Given the description of an element on the screen output the (x, y) to click on. 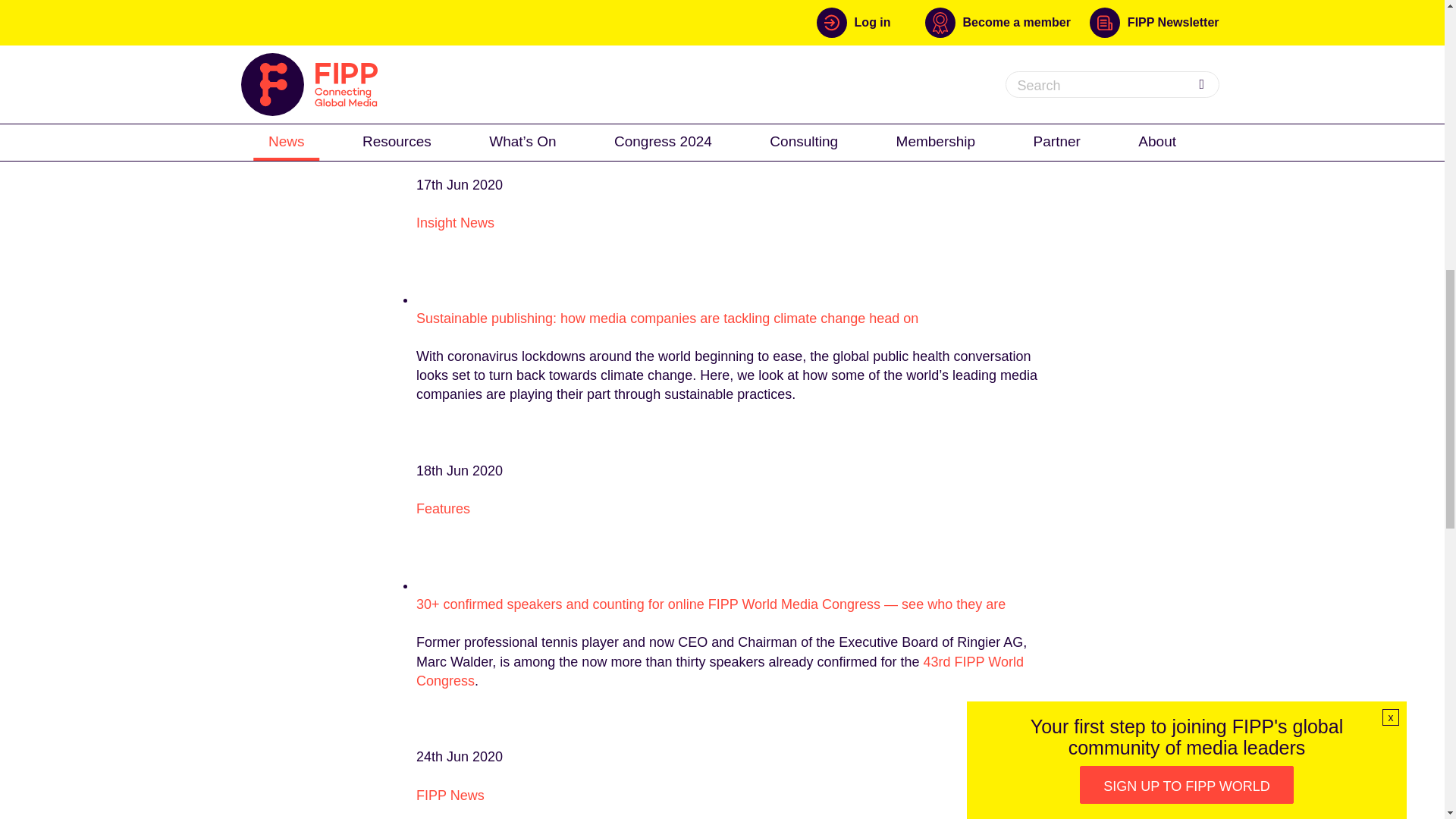
Insight News (455, 222)
43rd FIPP World Congress (719, 671)
June 2020 update: Publishing in the times of pandemic (582, 32)
Features (443, 508)
FIPP News (450, 795)
